Given the description of an element on the screen output the (x, y) to click on. 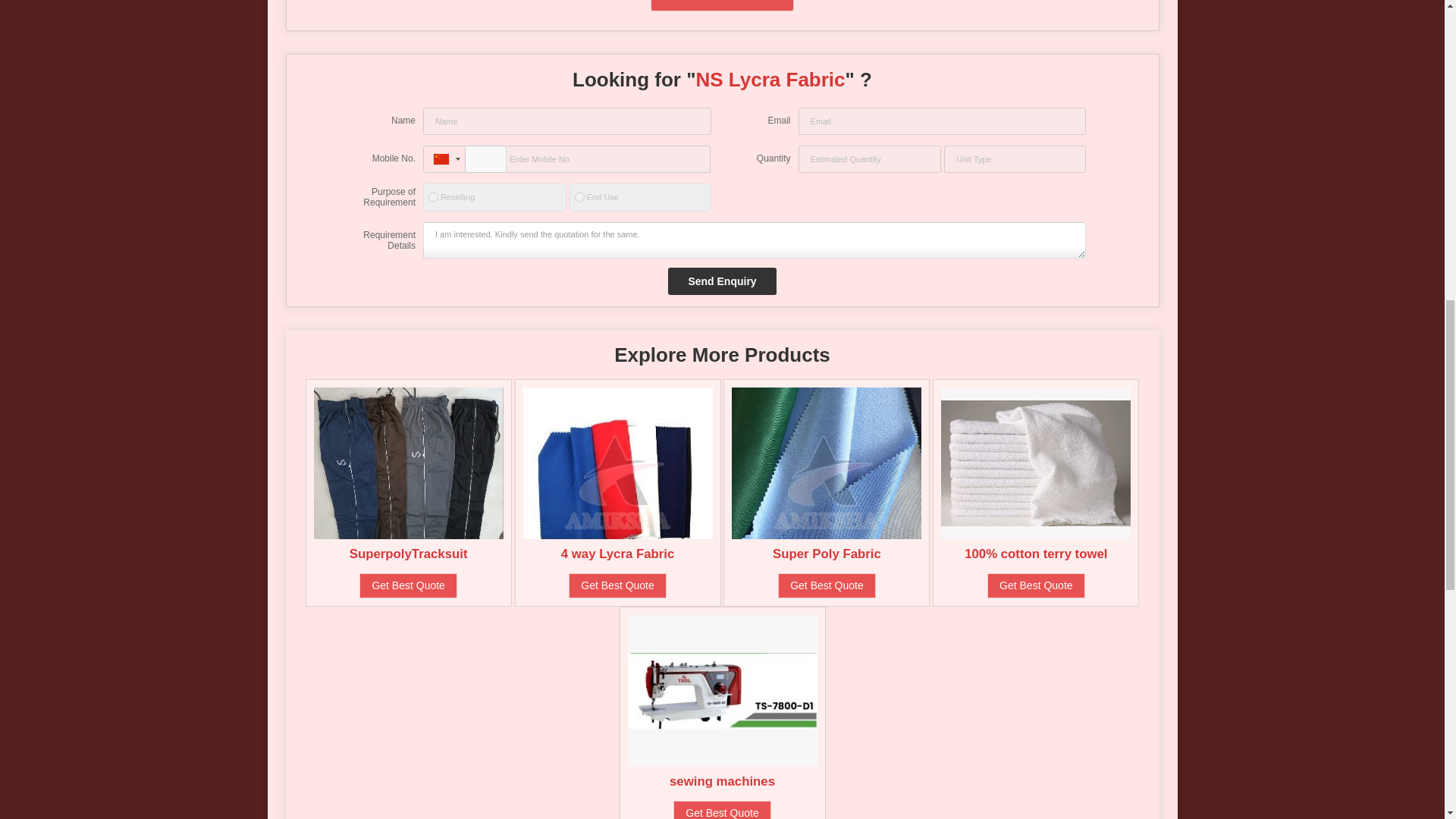
Get Best Quote (408, 585)
Send Enquiry (722, 280)
Send Enquiry (722, 280)
Yes! I am interested (722, 5)
SuperpolyTracksuit (408, 554)
